Given the description of an element on the screen output the (x, y) to click on. 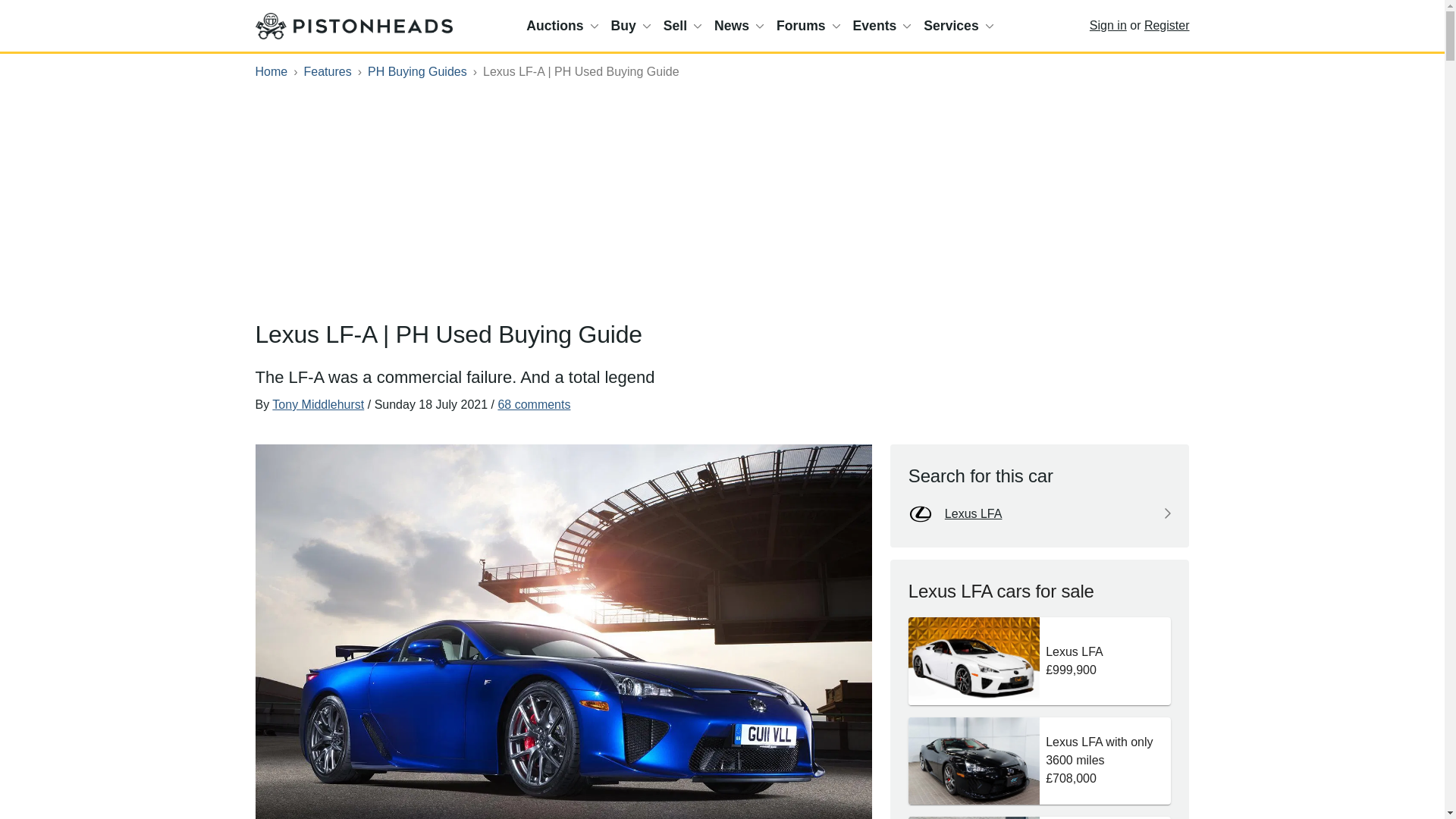
News (738, 25)
Auctions (561, 25)
Buy (631, 25)
Sell (682, 25)
Forums (808, 25)
